Given the description of an element on the screen output the (x, y) to click on. 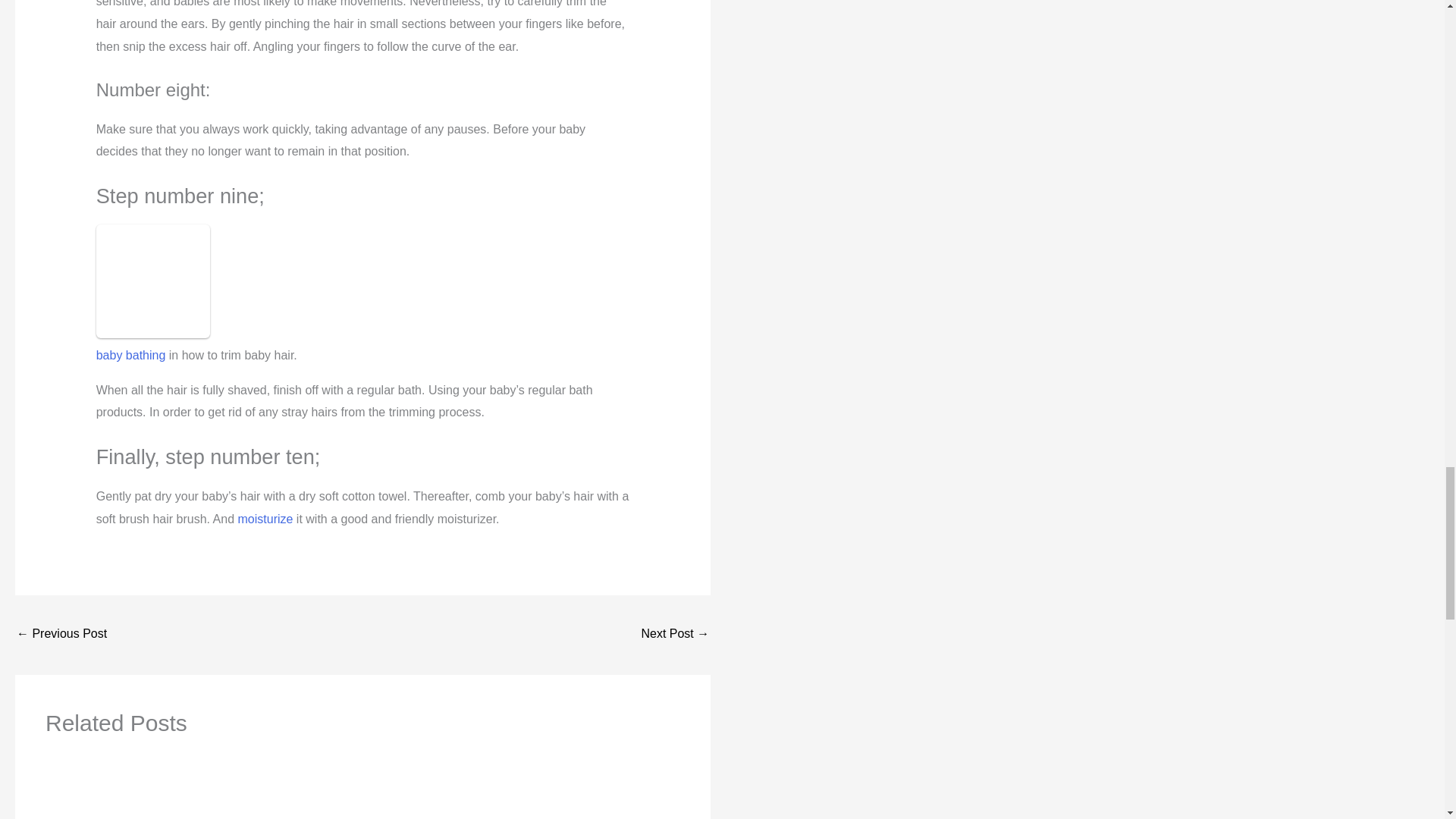
How To Make Baby Hair Grow In Womb (61, 634)
baby bathing (130, 354)
Black Baby Hair Products (674, 634)
moisturize (266, 518)
